Given the description of an element on the screen output the (x, y) to click on. 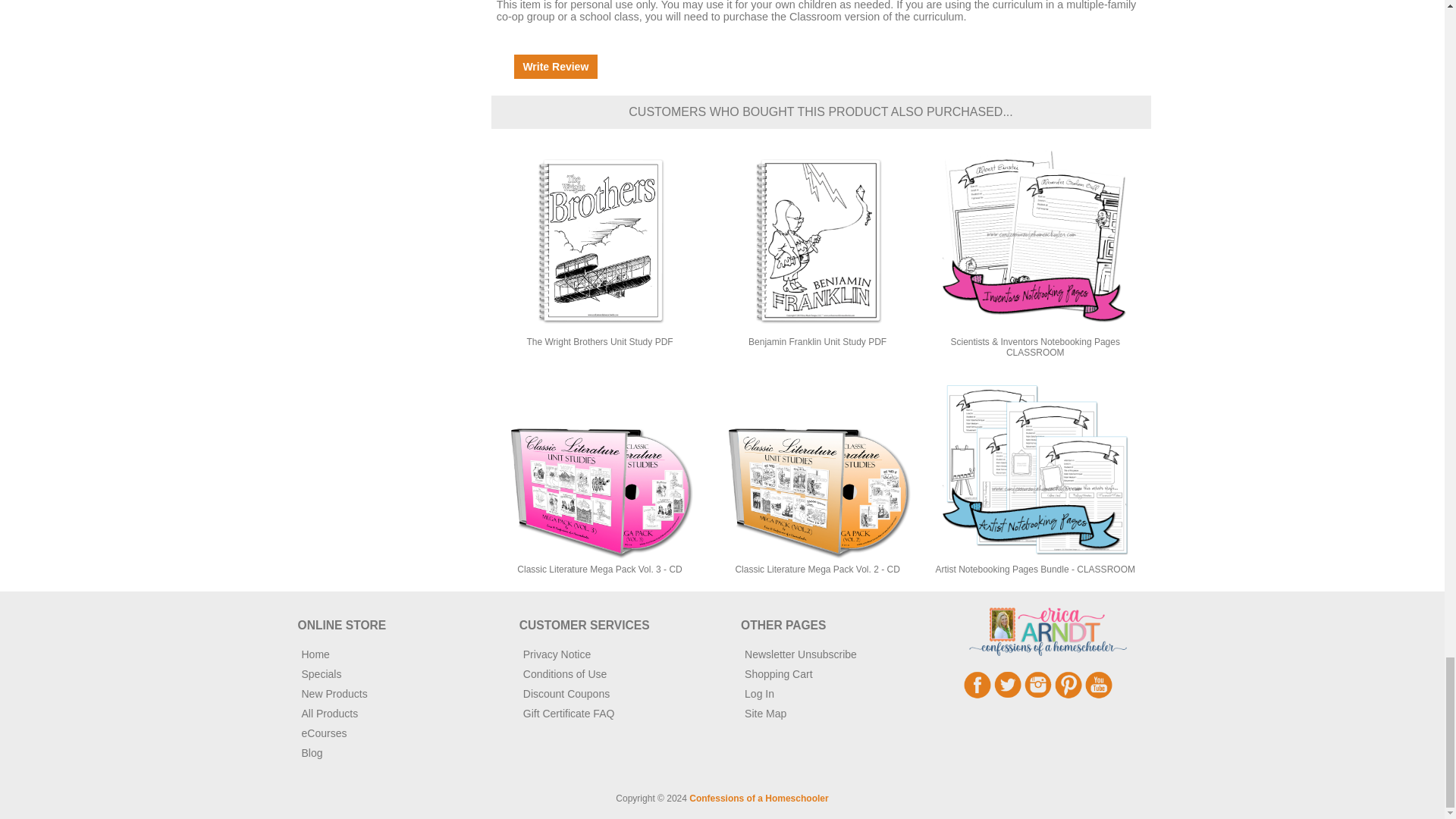
Classic Literature Mega Pack Vol. 3 - CD (599, 468)
The Wright Brothers Unit Study PDF (599, 241)
Benjamin Franklin Unit Study PDF (818, 241)
